Given the description of an element on the screen output the (x, y) to click on. 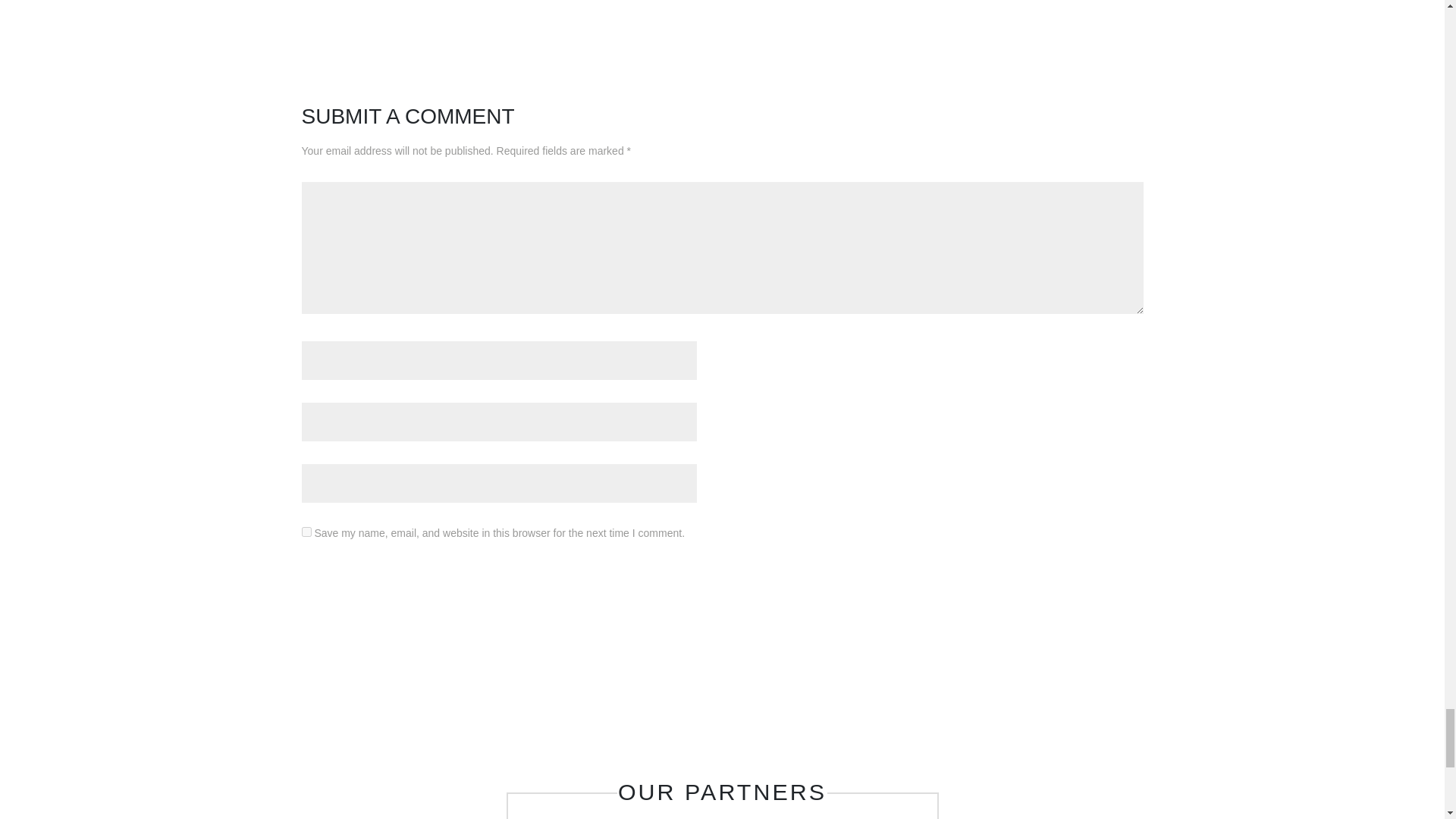
yes (306, 532)
Submit Comment (1067, 589)
